Given the description of an element on the screen output the (x, y) to click on. 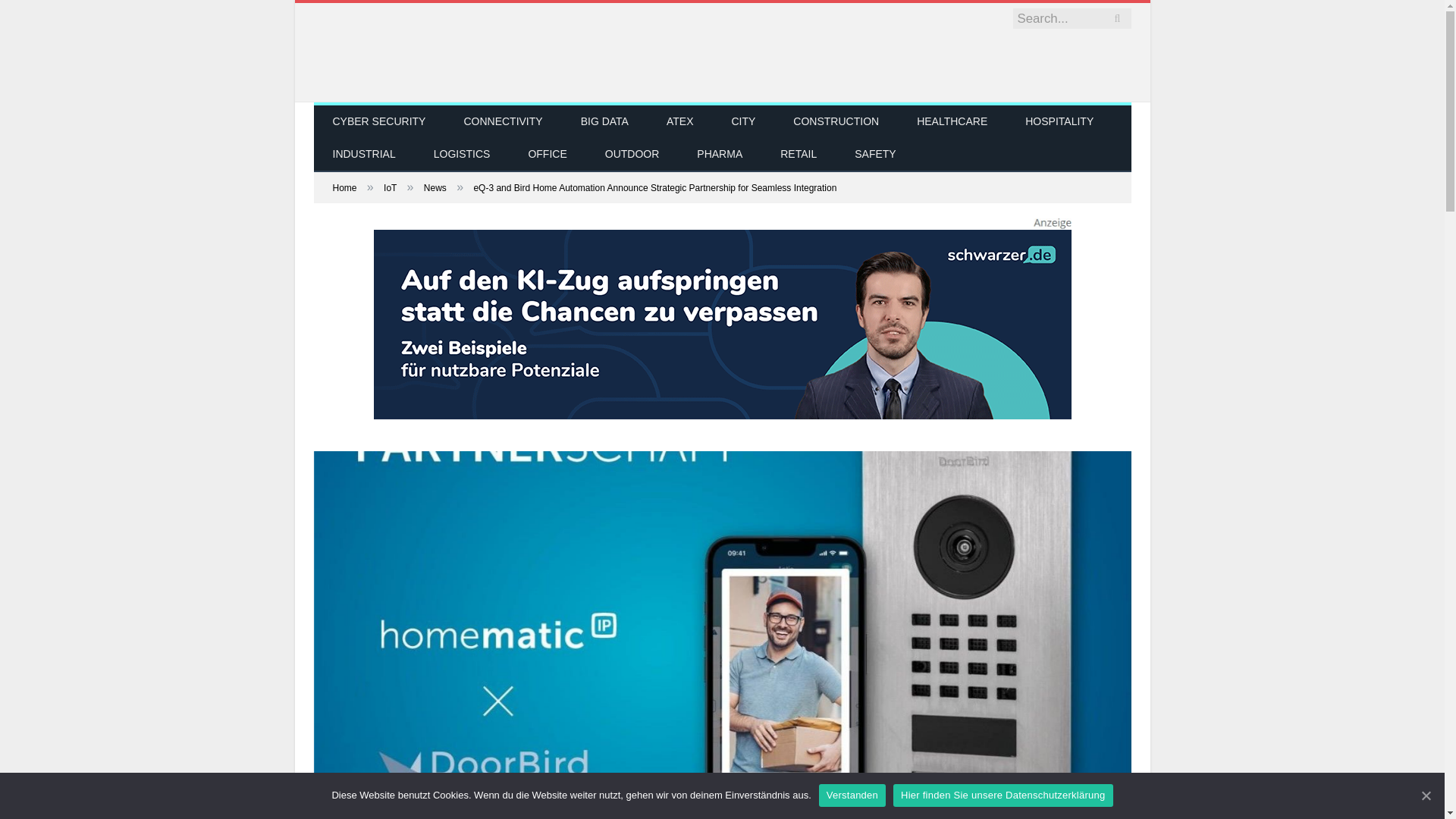
BIG DATA (604, 122)
SAFETY (874, 154)
CONNECTIVITY (502, 122)
LOGISTICS (461, 154)
CITY (742, 122)
RETAIL (798, 154)
PHARMA (719, 154)
HEALTHCARE (952, 122)
IoT (390, 187)
Home (343, 187)
OFFICE (546, 154)
CONSTRUCTION (836, 122)
OUTDOOR (632, 154)
CYBER SECURITY (379, 122)
